Given the description of an element on the screen output the (x, y) to click on. 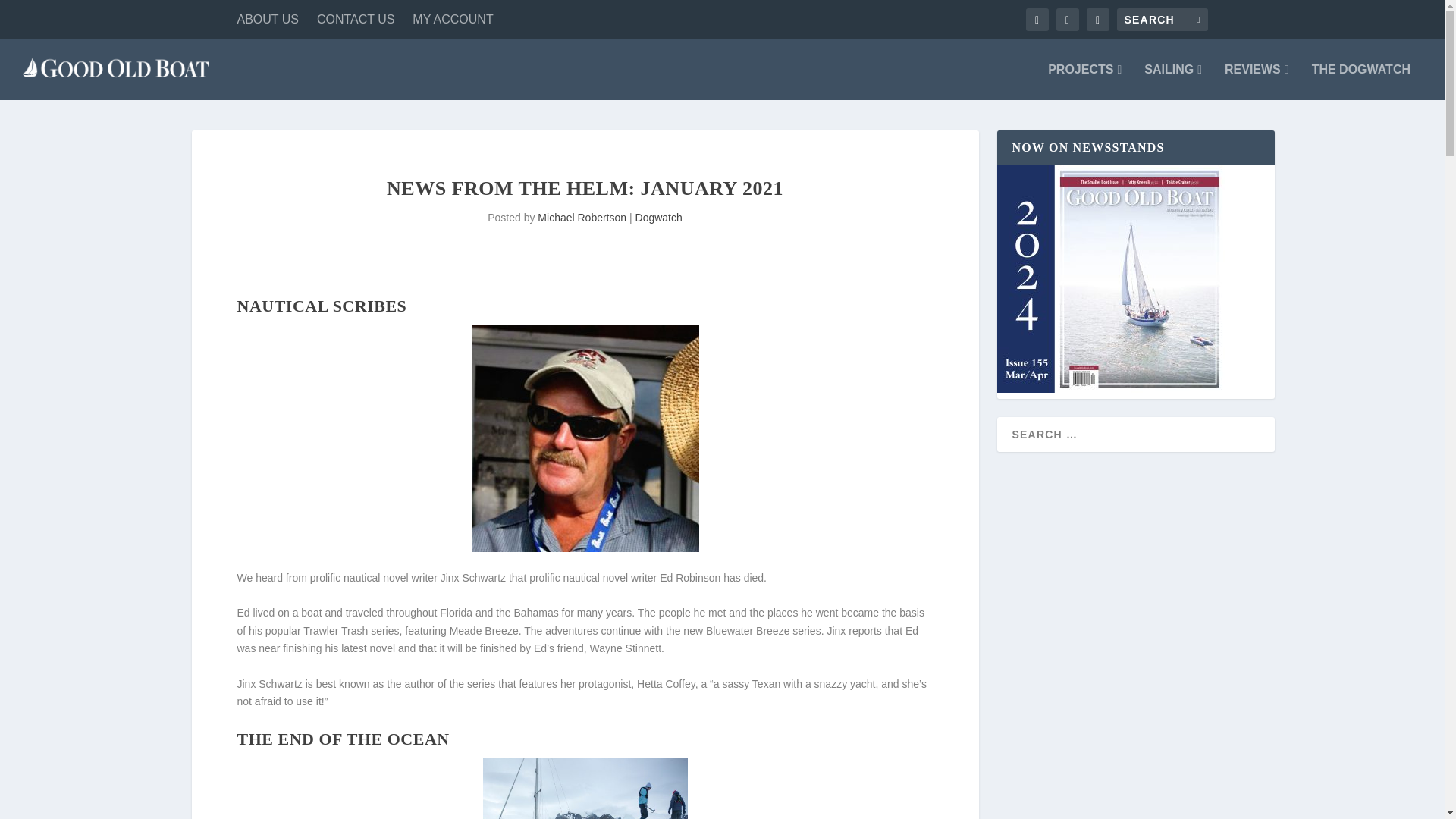
CONTACT US (355, 19)
MY ACCOUNT (452, 19)
THE DOGWATCH (1360, 81)
Posts by Michael Robertson (581, 217)
SAILING (1173, 81)
REVIEWS (1256, 81)
PROJECTS (1084, 81)
ABOUT US (266, 19)
Search for: (1161, 19)
